Given the description of an element on the screen output the (x, y) to click on. 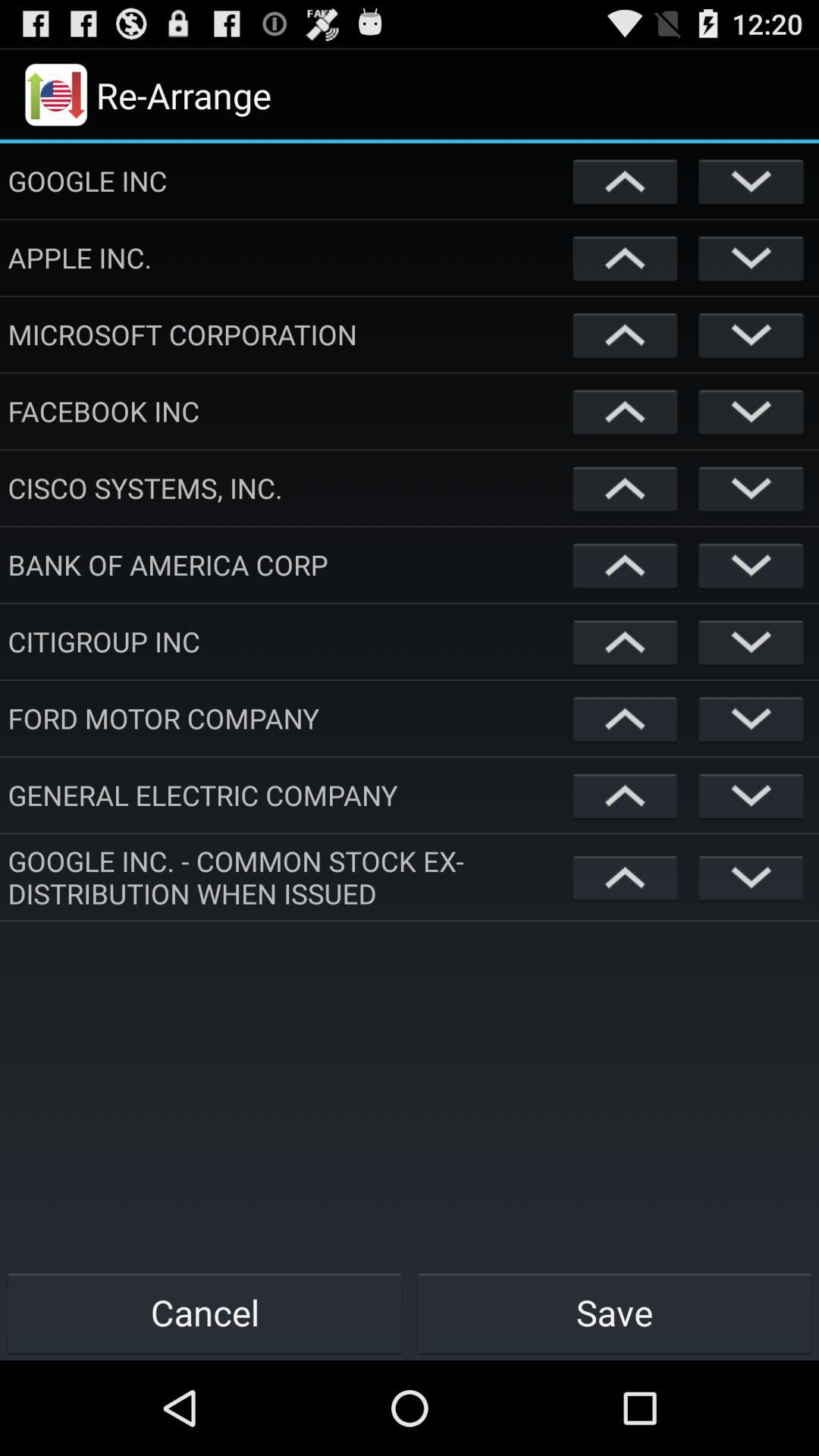
jump until facebook inc app (286, 410)
